Given the description of an element on the screen output the (x, y) to click on. 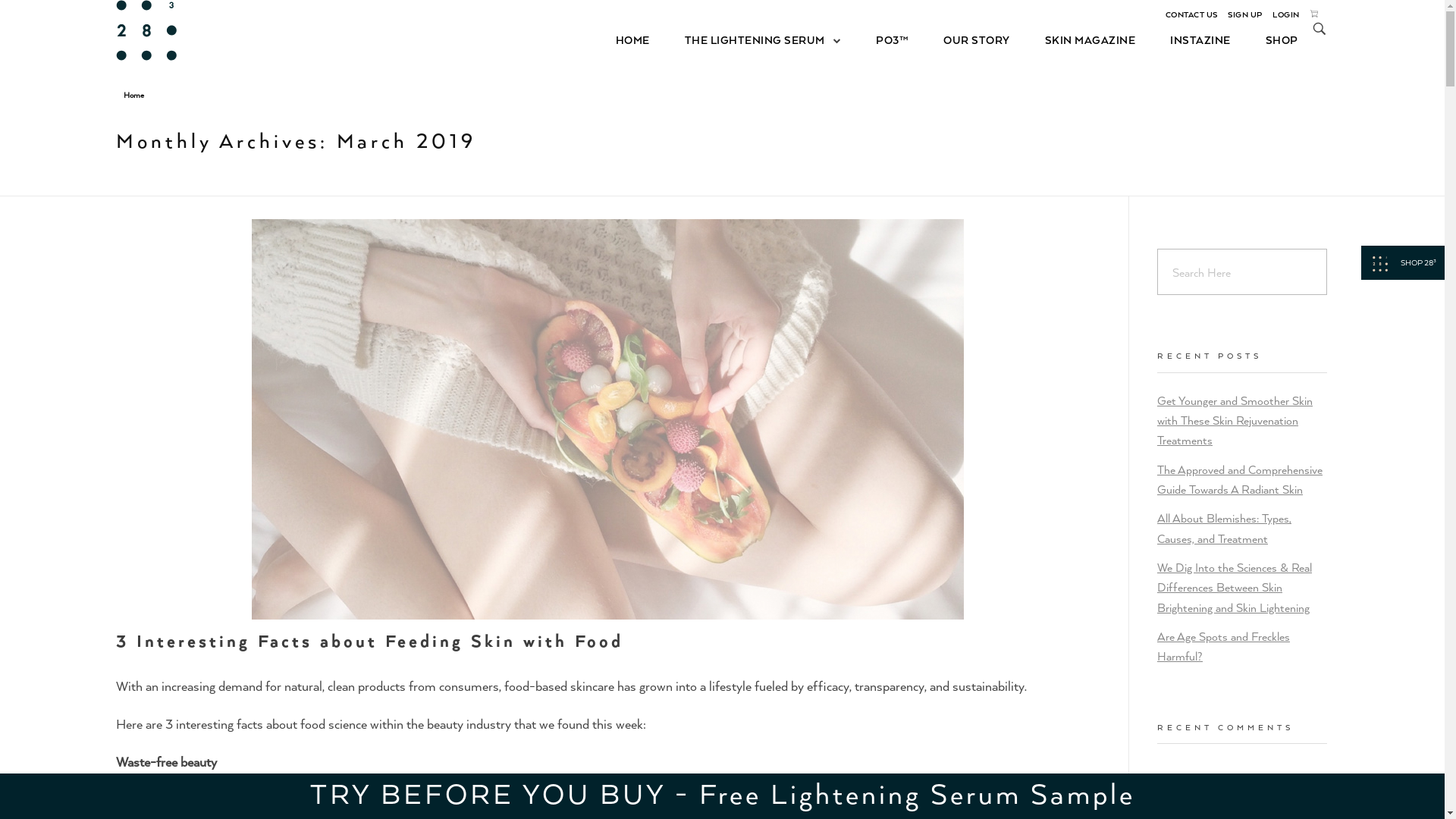
Search Element type: text (43, 14)
Are Age Spots and Freckles Harmful? Element type: text (1223, 645)
INSTAZINE Element type: text (1199, 39)
HOME Element type: text (641, 39)
TRY BEFORE YOU BUY - Free Lightening Serum Sample Element type: text (721, 792)
CONTACT US Element type: text (1190, 14)
SHOP Element type: text (1273, 39)
The Approved and Comprehensive Guide Towards A Radiant Skin Element type: text (1239, 478)
SIGN UP Element type: text (1244, 14)
OUR STORY Element type: text (975, 39)
SKIN MAGAZINE Element type: text (1089, 39)
Home Element type: text (132, 94)
THE LIGHTENING SERUM Element type: text (763, 39)
3 Interesting Facts about Feeding Skin with Food Element type: text (368, 640)
LOGIN Element type: text (1285, 14)
All About Blemishes: Types, Causes, and Treatment Element type: text (1224, 527)
